Given the description of an element on the screen output the (x, y) to click on. 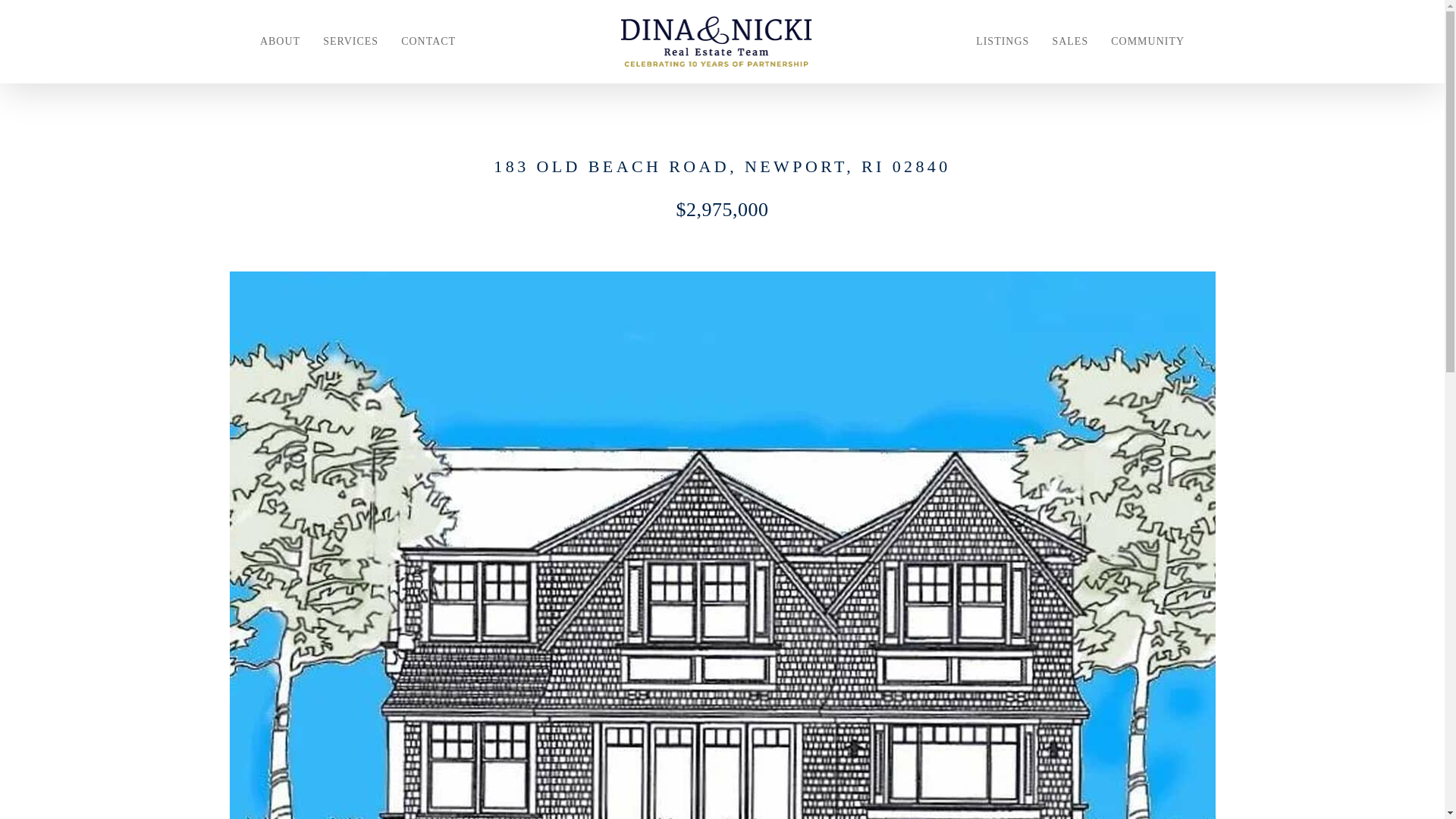
COMMUNITY (1147, 41)
